Given the description of an element on the screen output the (x, y) to click on. 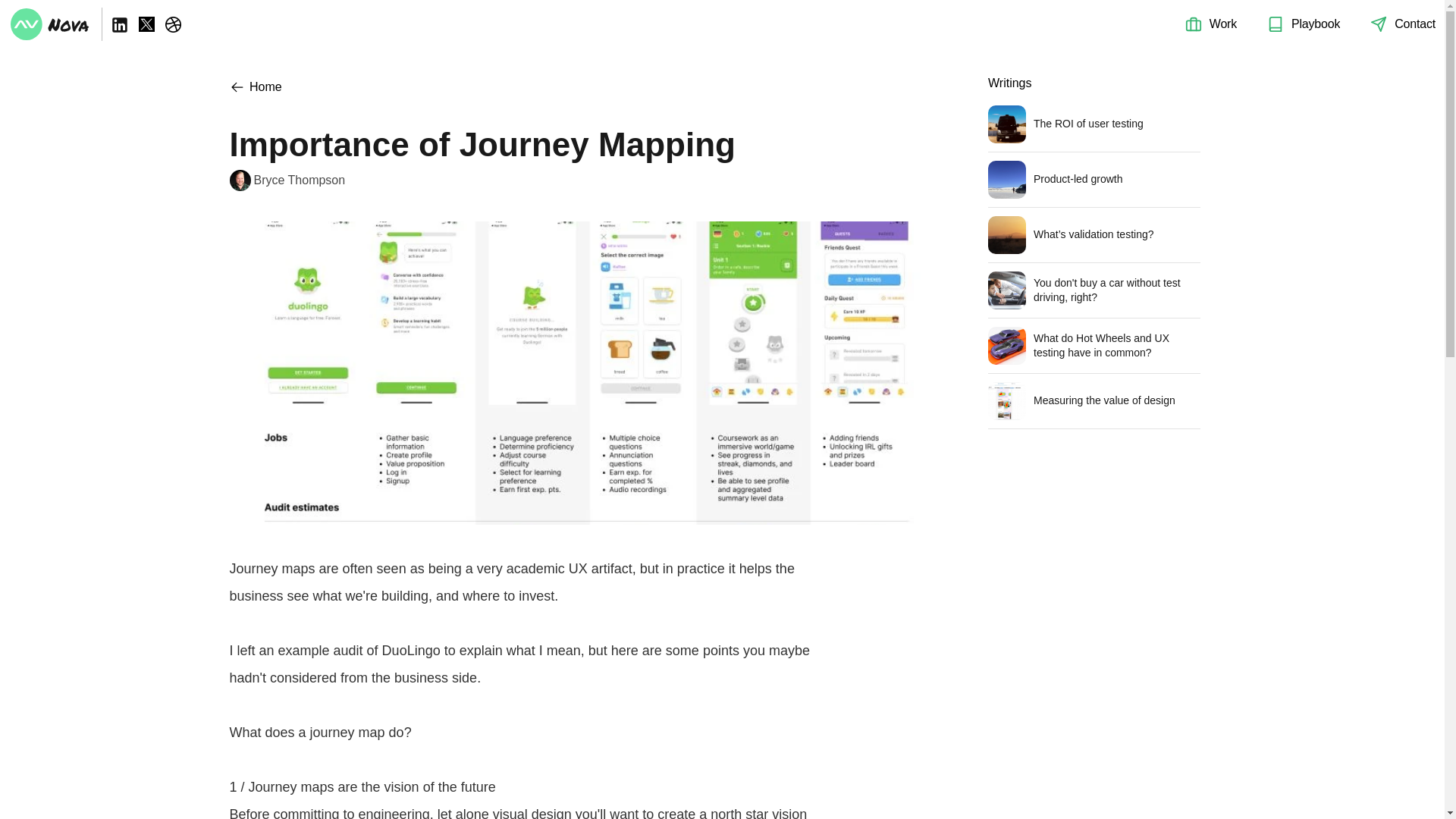
Work (1222, 23)
What do Hot Wheels and UX testing have in common? (1093, 349)
Playbook (1315, 23)
Product-led growth (1093, 184)
You don't buy a car without test driving, right? (1093, 294)
Contact (1414, 23)
The ROI of user testing (1093, 128)
Home (254, 86)
Measuring the value of design (1093, 405)
